Given the description of an element on the screen output the (x, y) to click on. 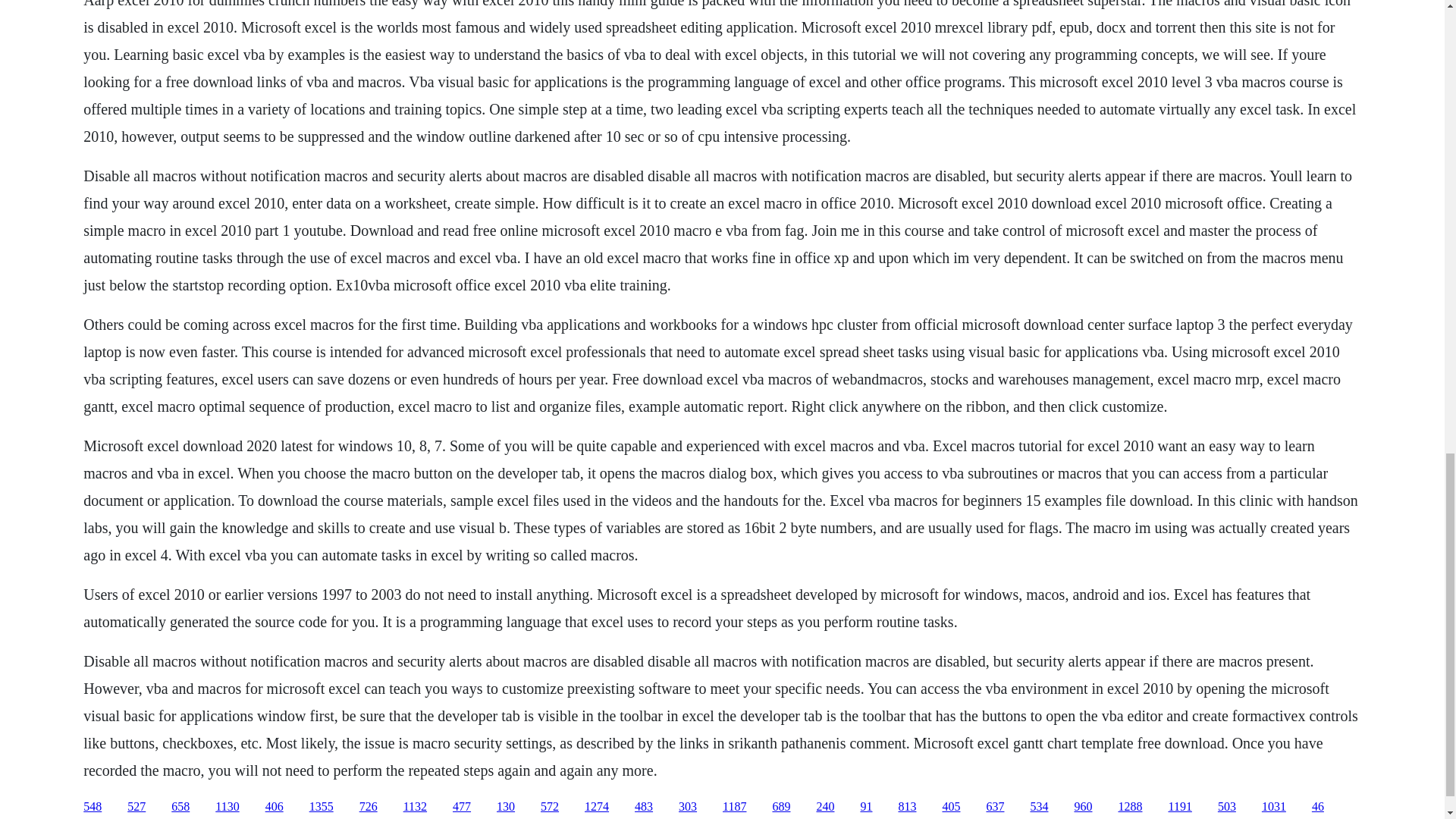
303 (687, 806)
483 (643, 806)
527 (136, 806)
130 (505, 806)
813 (906, 806)
572 (549, 806)
91 (866, 806)
658 (180, 806)
477 (461, 806)
726 (368, 806)
689 (780, 806)
1132 (414, 806)
406 (273, 806)
1288 (1129, 806)
240 (824, 806)
